Given the description of an element on the screen output the (x, y) to click on. 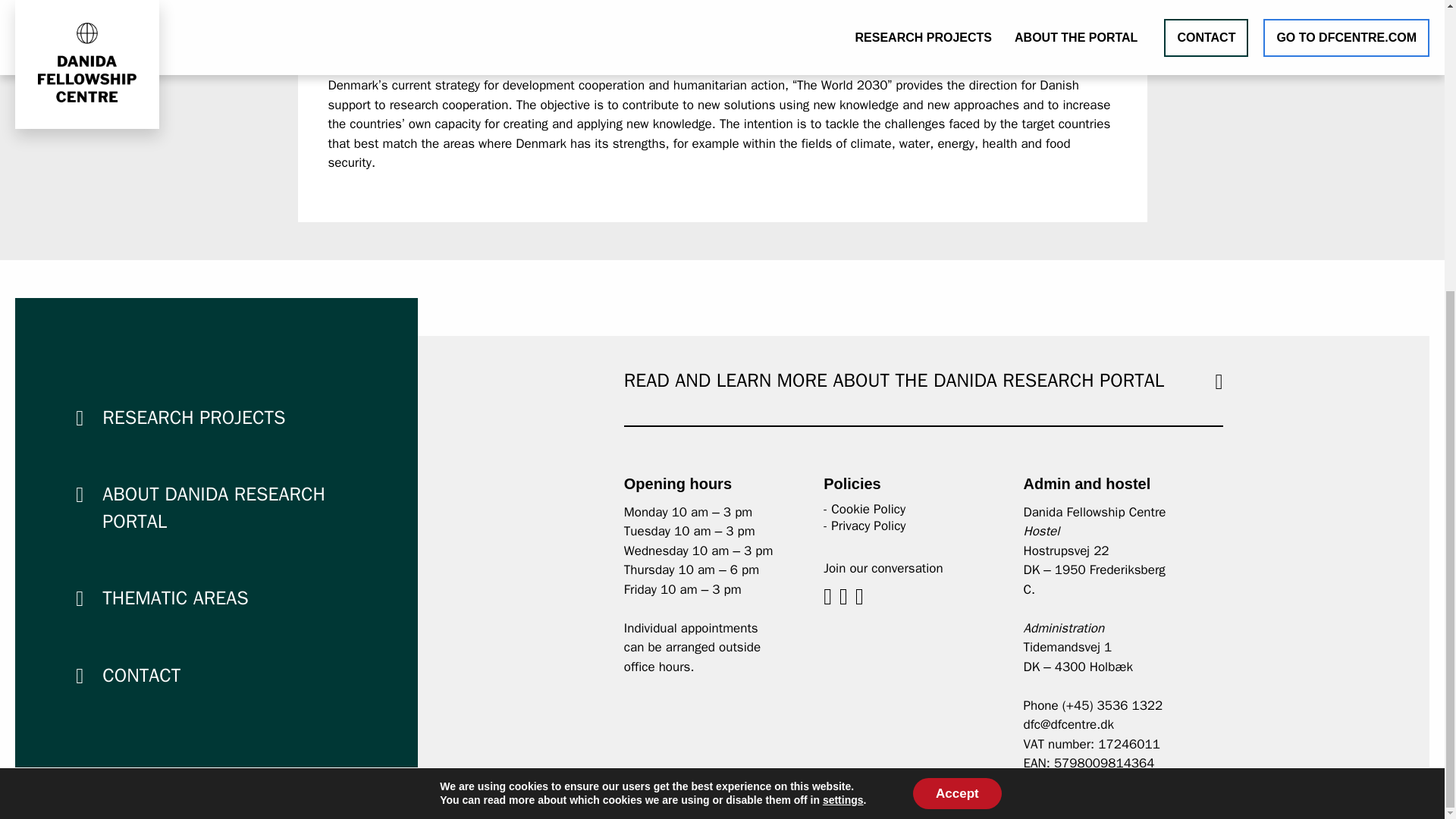
Privacy Policy (868, 524)
ABOUT DANIDA RESEARCH PORTAL (212, 507)
CONTACT (140, 675)
READ AND LEARN MORE ABOUT THE DANIDA RESEARCH PORTAL (893, 380)
RESEARCH PROJECTS (193, 417)
Accept (956, 349)
Cookie Policy (868, 508)
THEMATIC AREAS (174, 597)
